Given the description of an element on the screen output the (x, y) to click on. 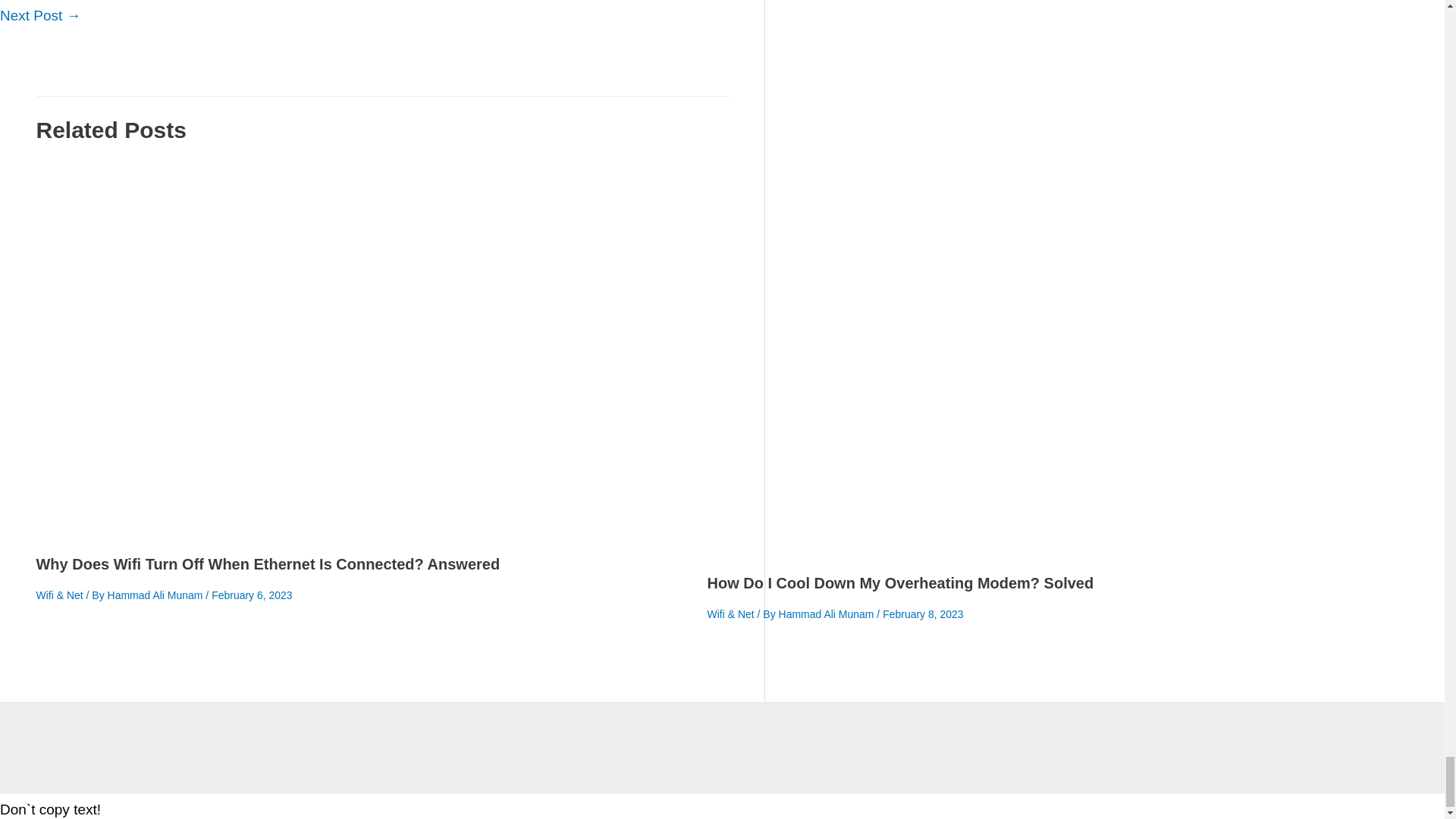
View all posts by Hammad Ali Munam (827, 613)
View all posts by Hammad Ali Munam (156, 594)
How To Safely Remove Temp Folder? - 4 Methods (40, 15)
